Given the description of an element on the screen output the (x, y) to click on. 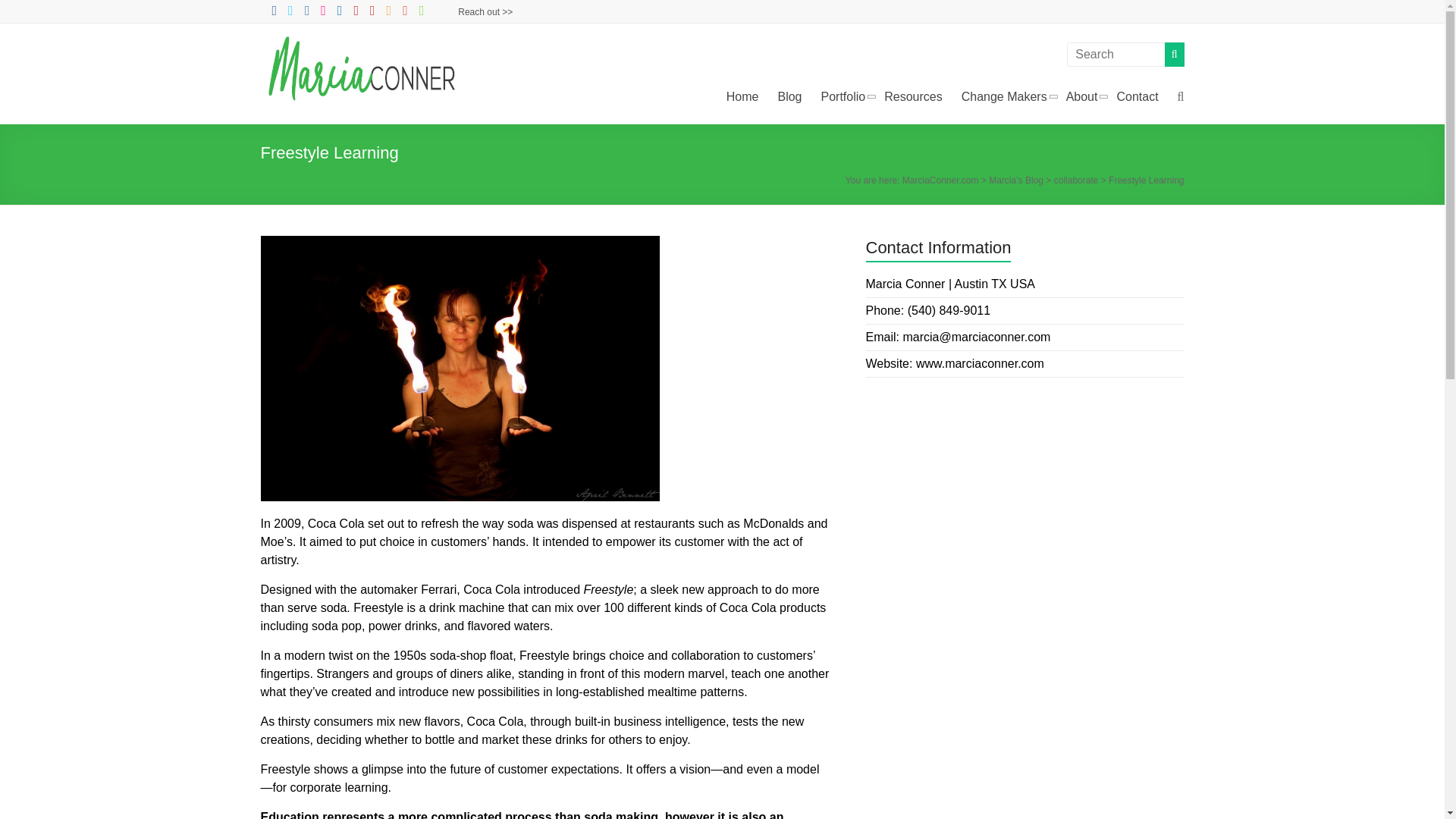
Go to the collaborate Category archives. (1076, 180)
Home (742, 96)
Freestyle Learning (459, 368)
Contact (1136, 96)
Portfolio (842, 96)
About (1081, 96)
collaborate (1076, 180)
Resources (912, 96)
MarciaConner.com (363, 55)
Blog (789, 96)
